Given the description of an element on the screen output the (x, y) to click on. 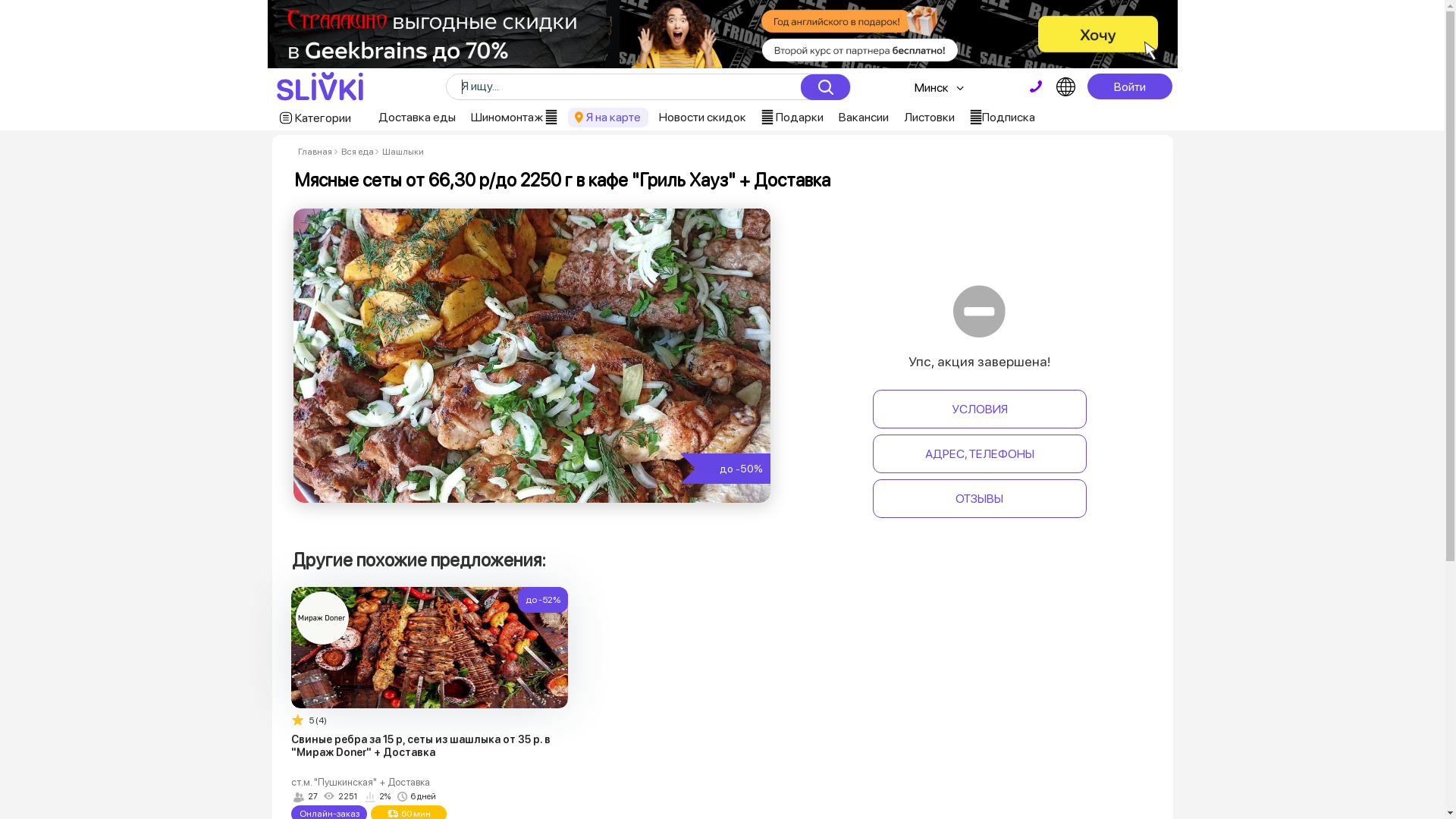
27 Element type: text (305, 796)
  Element type: text (1035, 86)
